Given the description of an element on the screen output the (x, y) to click on. 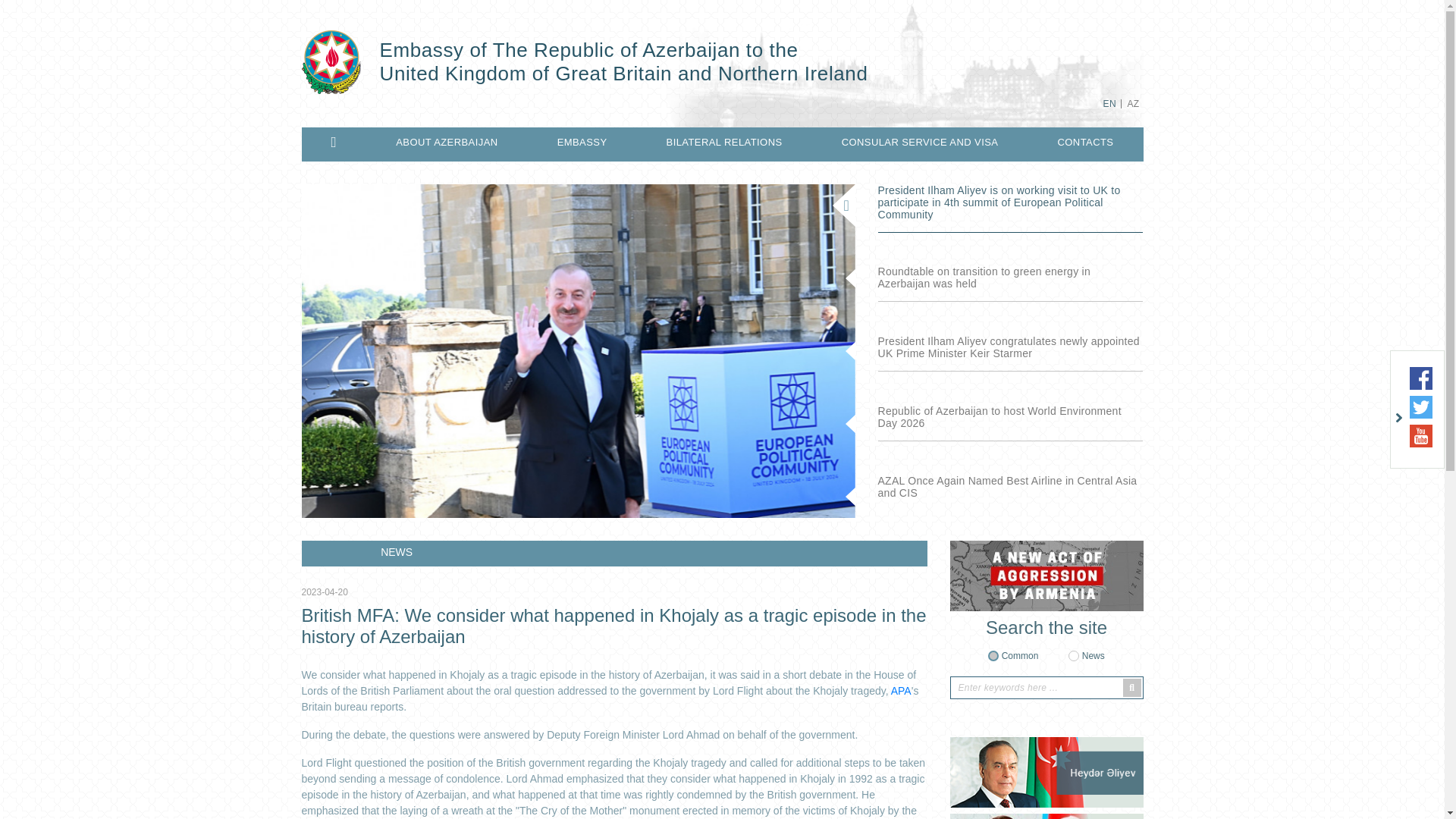
AZ (1132, 103)
EMBASSY (582, 142)
BILATERAL RELATIONS (724, 142)
EN (1109, 103)
ABOUT AZERBAIJAN (446, 142)
CONSULAR SERVICE AND VISA (920, 142)
